Given the description of an element on the screen output the (x, y) to click on. 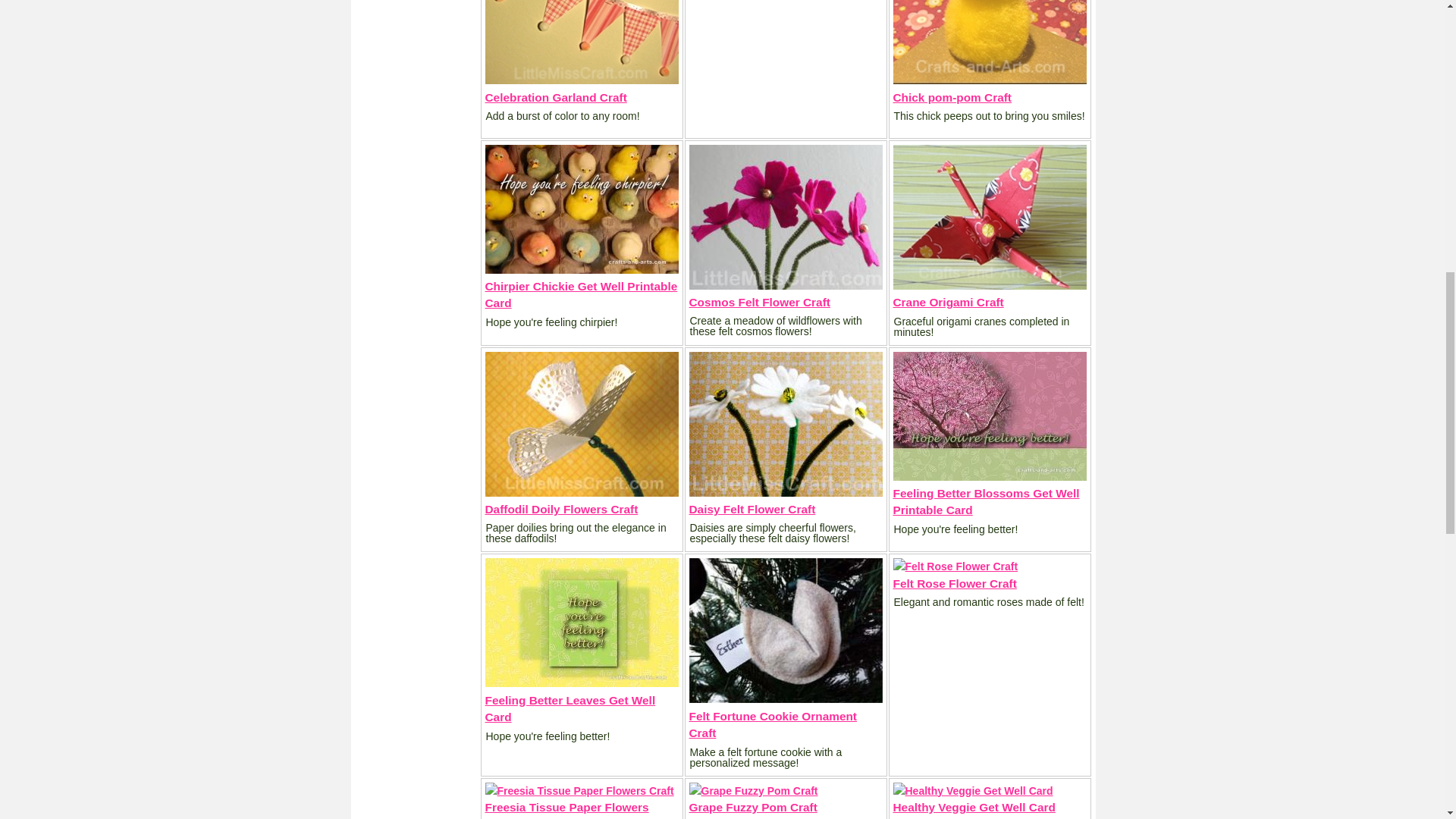
Daffodil Doily Flowers Craft (561, 508)
Daisy Felt Flower Craft (751, 508)
Feeling Better Leaves Get Well Card (570, 708)
Cosmos Felt Flower Craft (758, 301)
Crane Origami Craft (948, 301)
Celebration Garland Craft (555, 97)
Chick pom-pom Craft (952, 97)
Chirpier Chickie Get Well Printable Card (581, 294)
Feeling Better Blossoms Get Well Printable Card (986, 501)
